Given the description of an element on the screen output the (x, y) to click on. 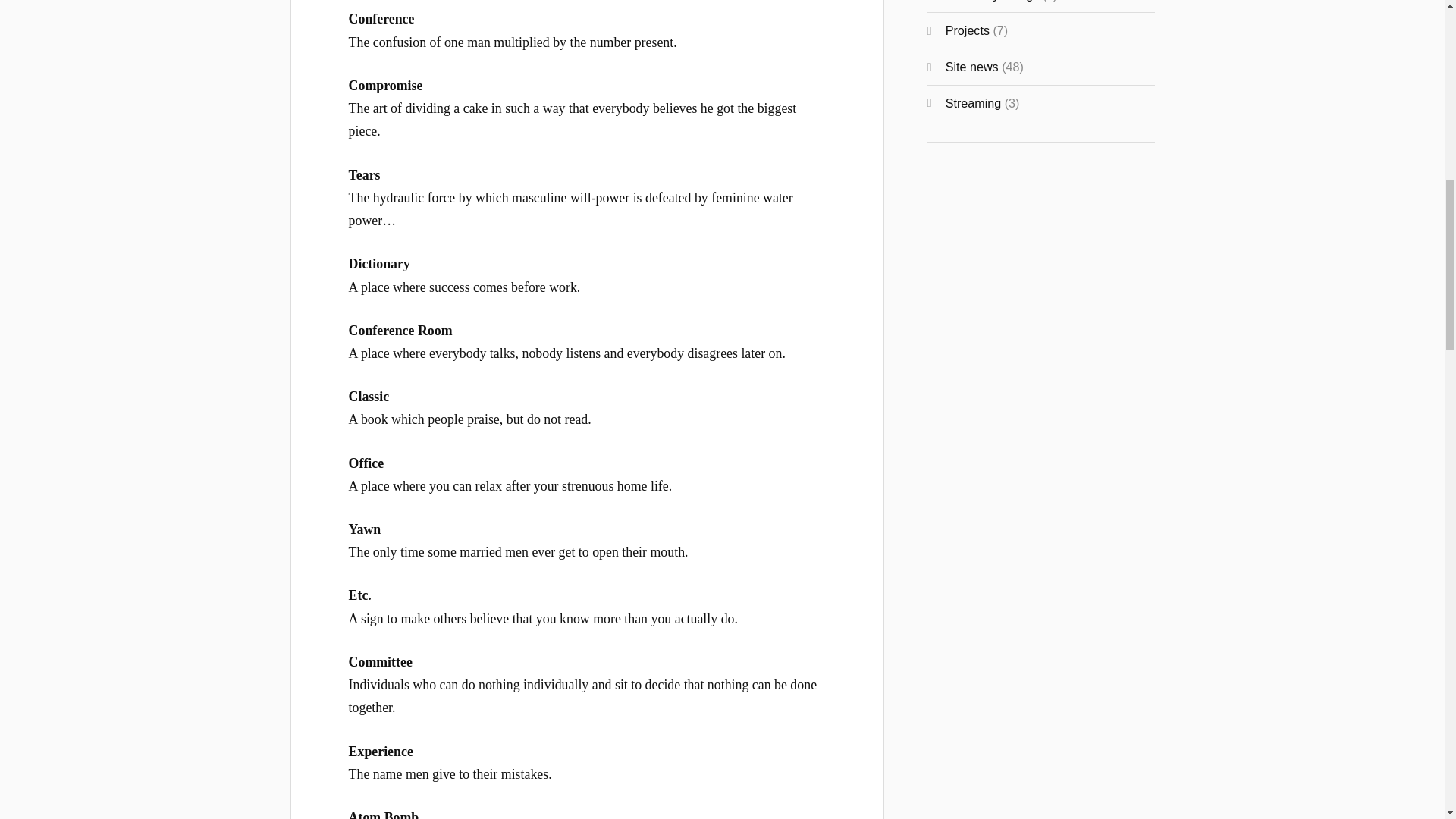
Just Baby Things (991, 0)
